Given the description of an element on the screen output the (x, y) to click on. 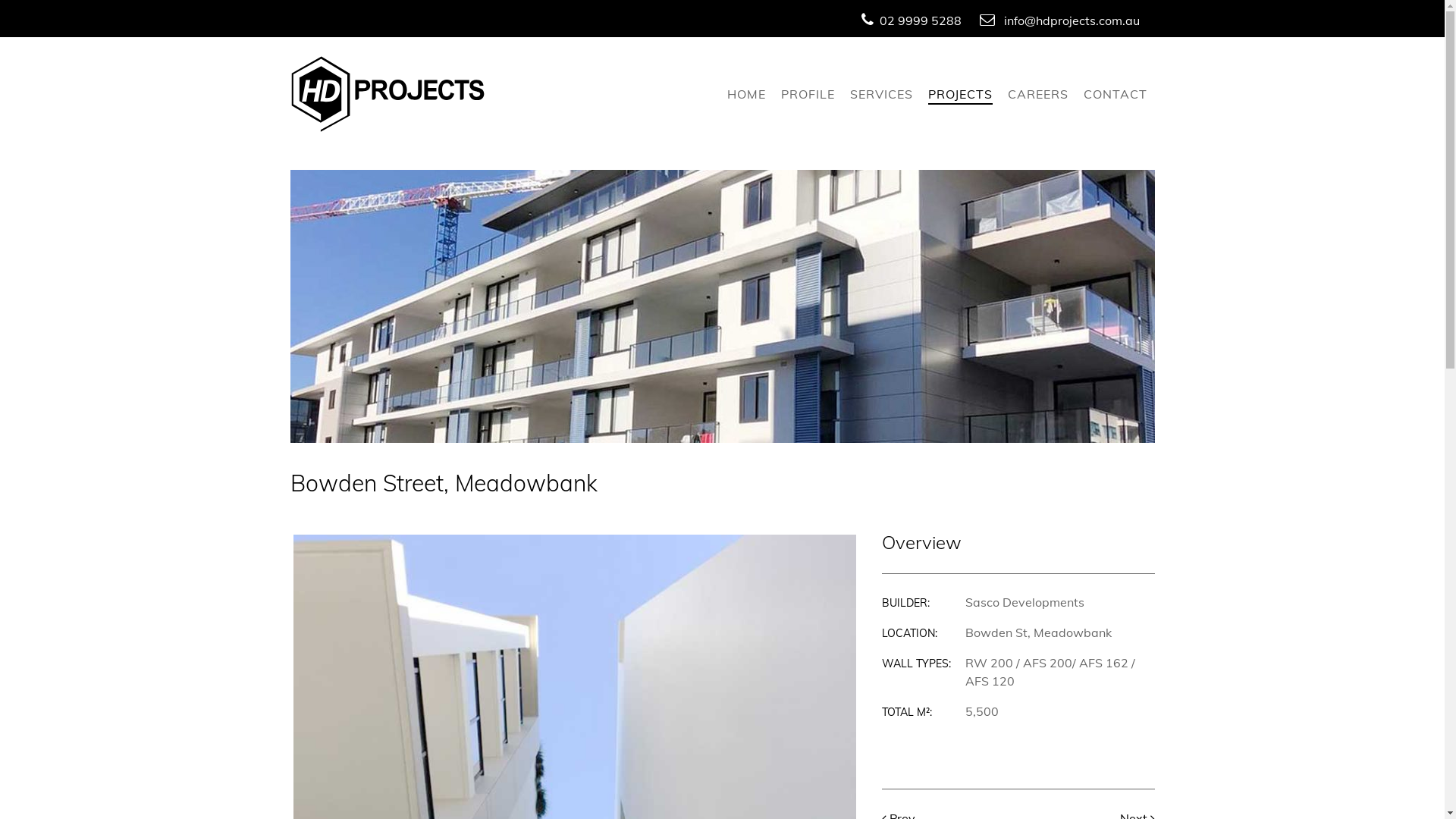
HOME Element type: text (745, 95)
CAREERS Element type: text (1037, 95)
CONTACT Element type: text (1114, 95)
PROFILE Element type: text (807, 95)
PROJECTS Element type: text (960, 95)
SERVICES Element type: text (880, 95)
info@hdprojects.com.au Element type: text (1071, 20)
02 9999 5288 Element type: text (920, 20)
